Given the description of an element on the screen output the (x, y) to click on. 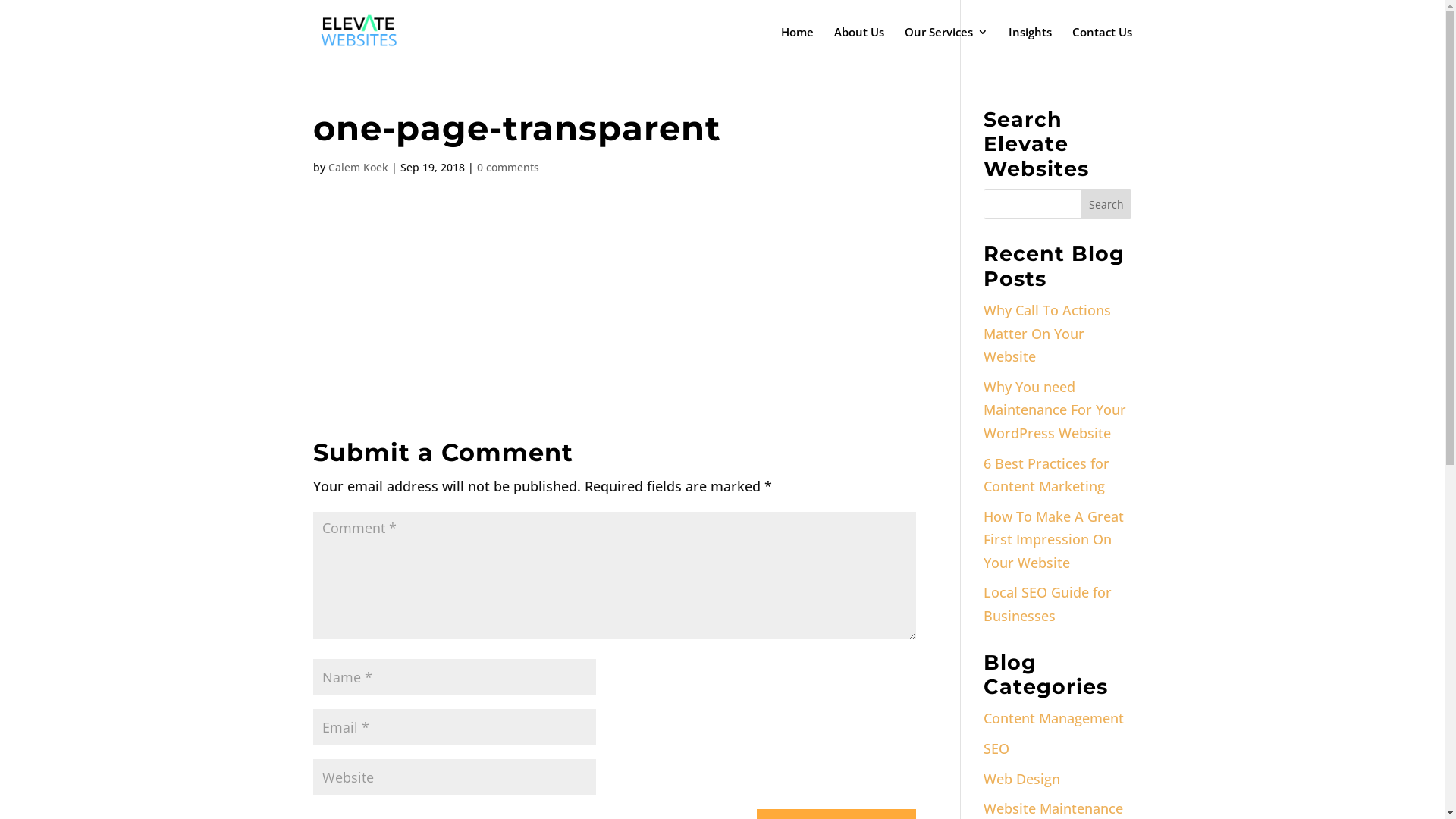
Website Maintenance Element type: text (1053, 808)
Calem Koek Element type: text (357, 167)
Insights Element type: text (1029, 44)
About Us Element type: text (859, 44)
0 comments Element type: text (507, 167)
Why Call To Actions Matter On Your Website Element type: text (1046, 333)
SEO Element type: text (996, 748)
Content Management Element type: text (1053, 718)
How To Make A Great First Impression On Your Website Element type: text (1053, 539)
Local SEO Guide for Businesses Element type: text (1047, 603)
Contact Us Element type: text (1102, 44)
Web Design Element type: text (1021, 778)
Home Element type: text (797, 44)
Search Element type: text (1106, 203)
6 Best Practices for Content Marketing Element type: text (1046, 474)
Our Services Element type: text (945, 44)
Why You need Maintenance For Your WordPress Website Element type: text (1054, 409)
